Given the description of an element on the screen output the (x, y) to click on. 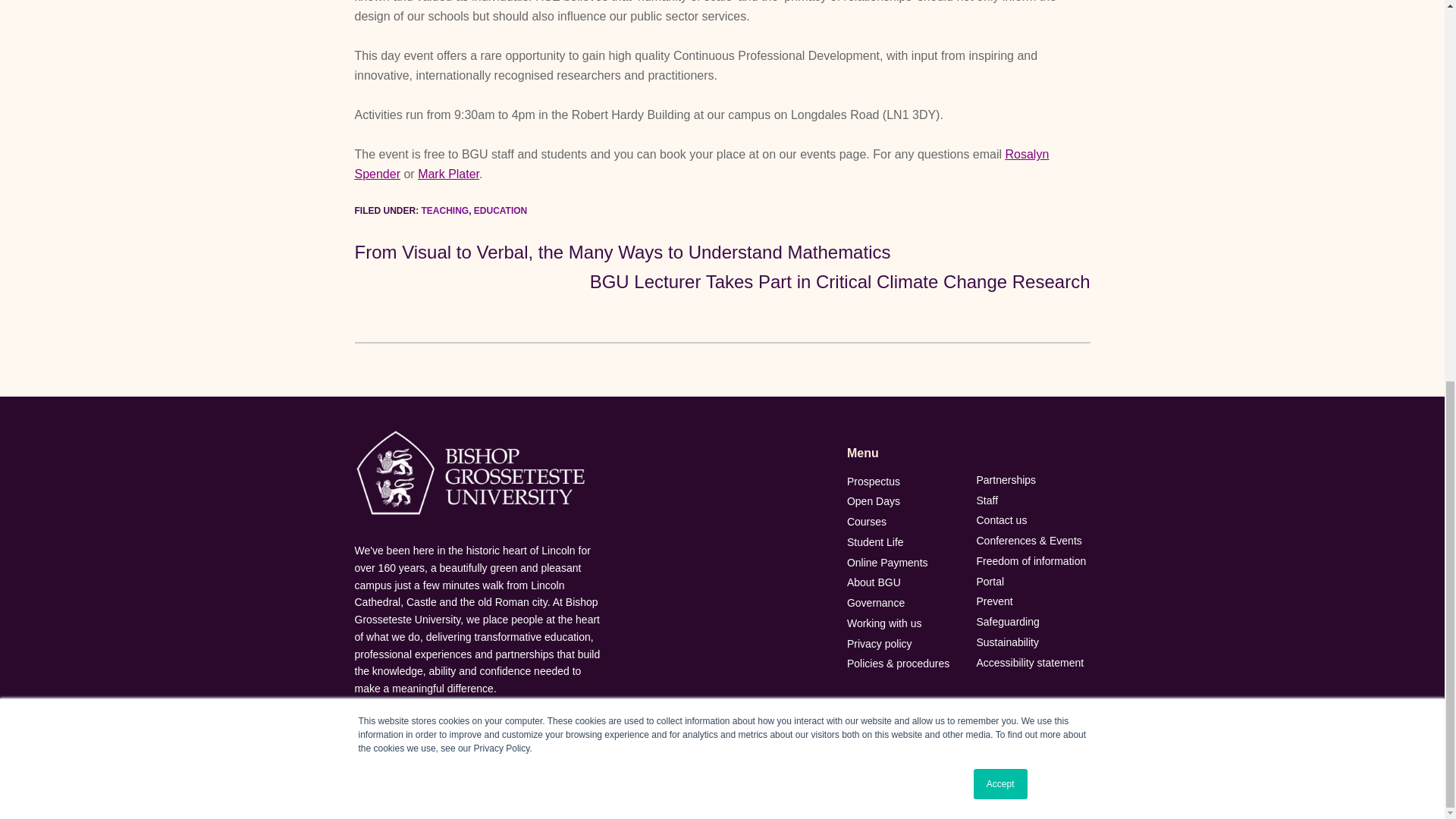
events page (832, 154)
Menu (903, 453)
Courses (903, 521)
facebook (886, 770)
Online Payments (903, 562)
Rosalyn Spender (702, 164)
About BGU (903, 582)
Governance (903, 602)
EDUCATION (500, 210)
Staff (1032, 500)
TEACHING (445, 210)
Privacy policy (903, 643)
Mark Plater (448, 173)
Contact us (1032, 520)
Working with us (903, 623)
